Given the description of an element on the screen output the (x, y) to click on. 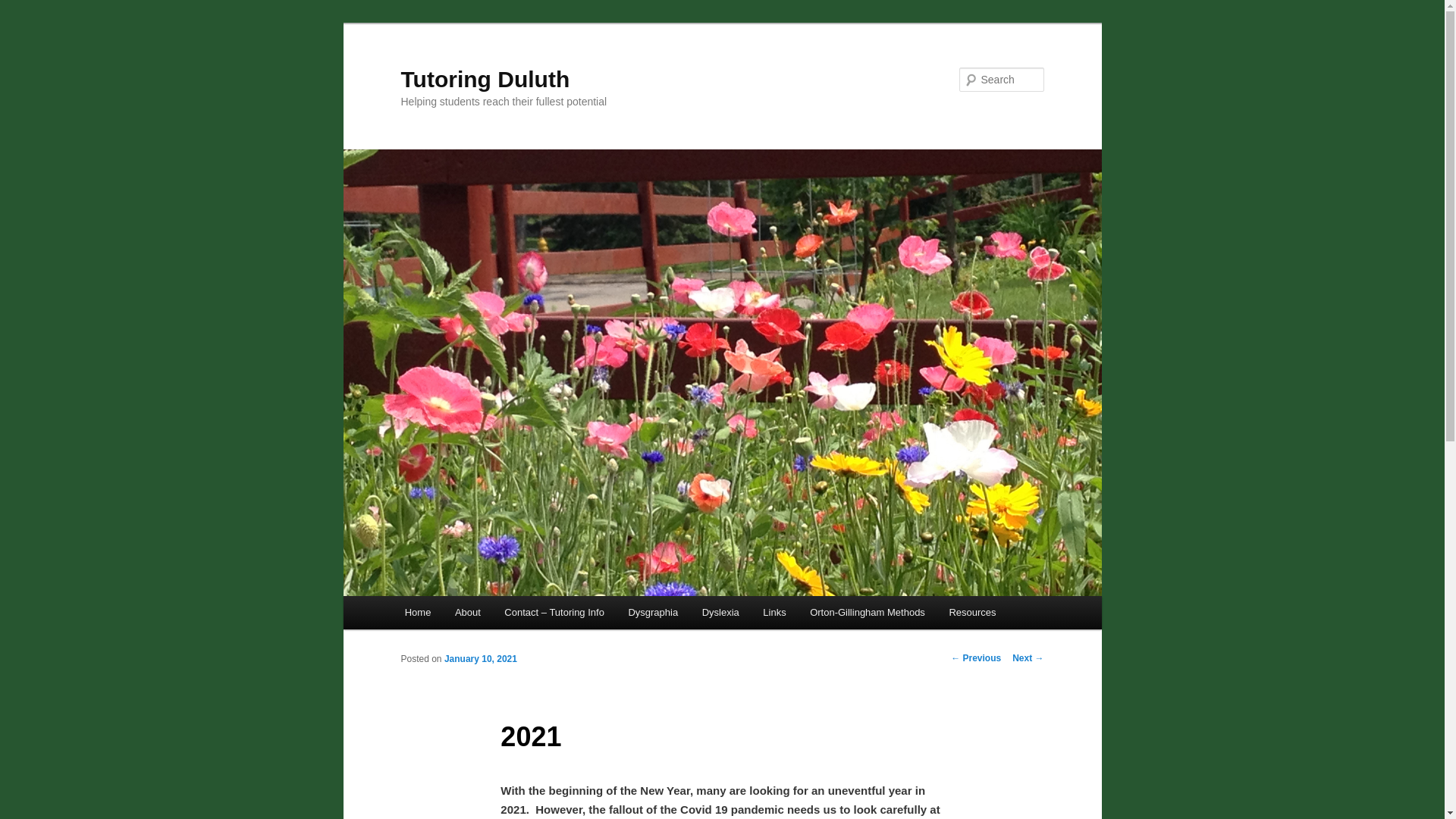
Dysgraphia (652, 612)
Search (24, 8)
Home (417, 612)
Dyslexia (720, 612)
About (467, 612)
Orton-Gillingham Methods (866, 612)
January 10, 2021 (480, 658)
Links (774, 612)
Tutoring Duluth (484, 78)
7:35 pm (480, 658)
Resources (973, 612)
